Given the description of an element on the screen output the (x, y) to click on. 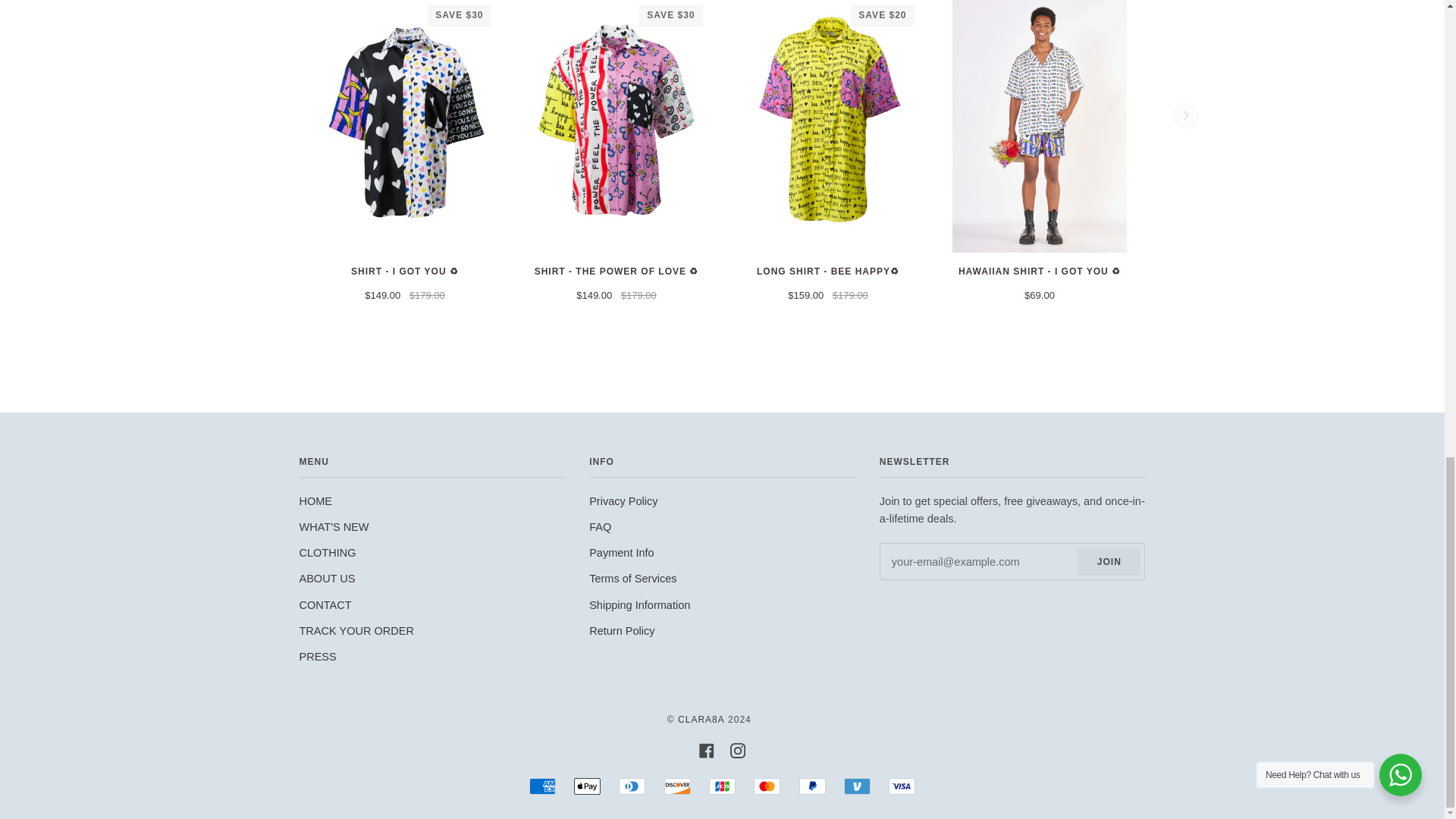
JCB (722, 786)
DISCOVER (676, 786)
Facebook (706, 749)
DINERS CLUB (631, 786)
APPLE PAY (586, 786)
VENMO (857, 786)
VISA (901, 786)
AMERICAN EXPRESS (542, 786)
Instagram (737, 749)
PAYPAL (812, 786)
MASTERCARD (767, 786)
